Given the description of an element on the screen output the (x, y) to click on. 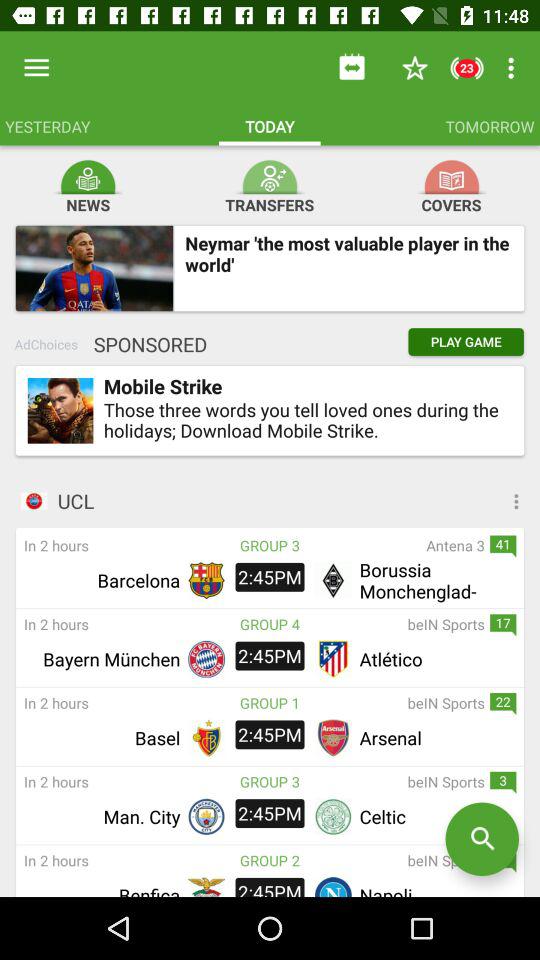
jump until the 22 item (503, 704)
